Given the description of an element on the screen output the (x, y) to click on. 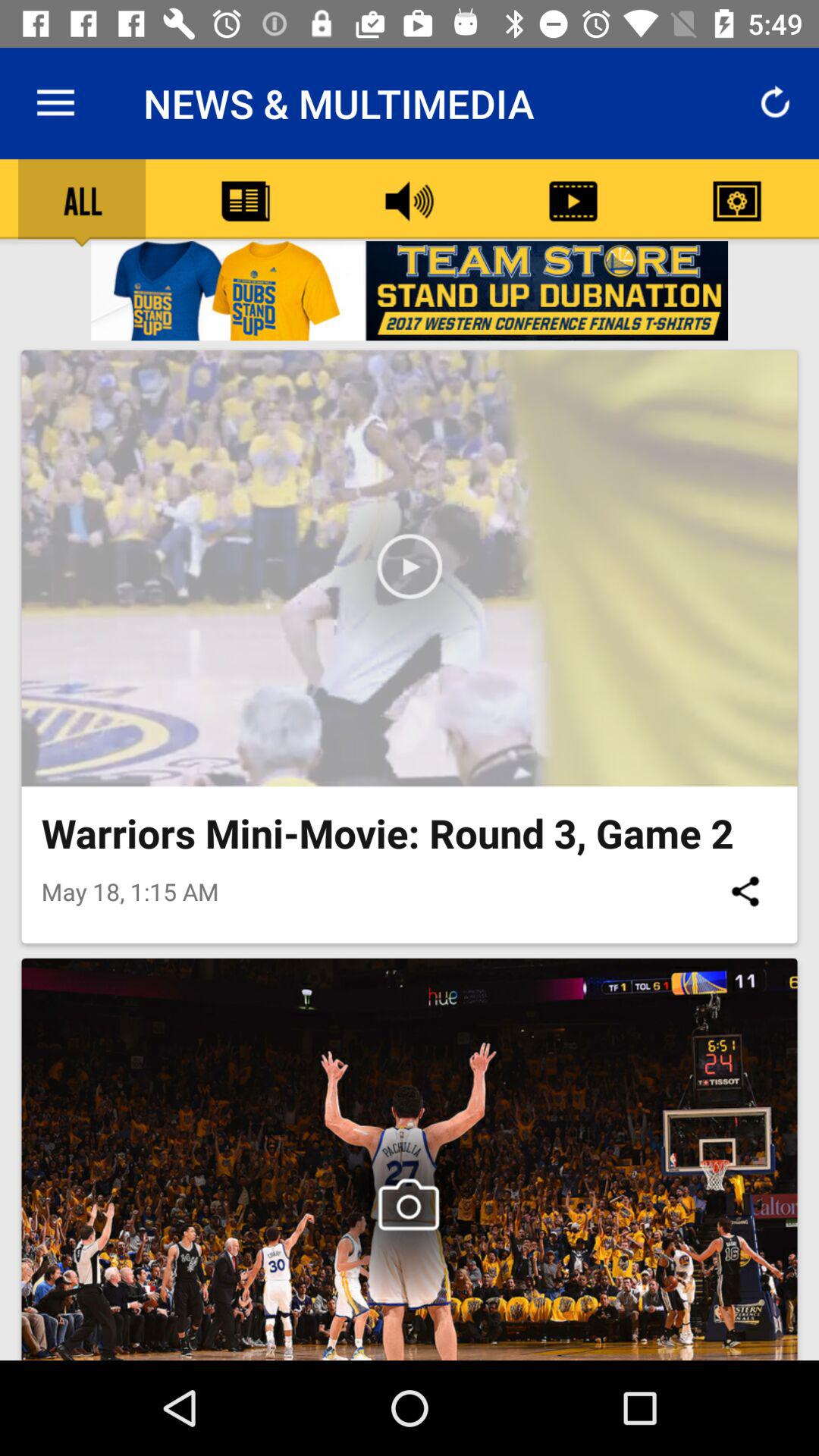
click the icon below the warriors mini movie icon (745, 891)
